Given the description of an element on the screen output the (x, y) to click on. 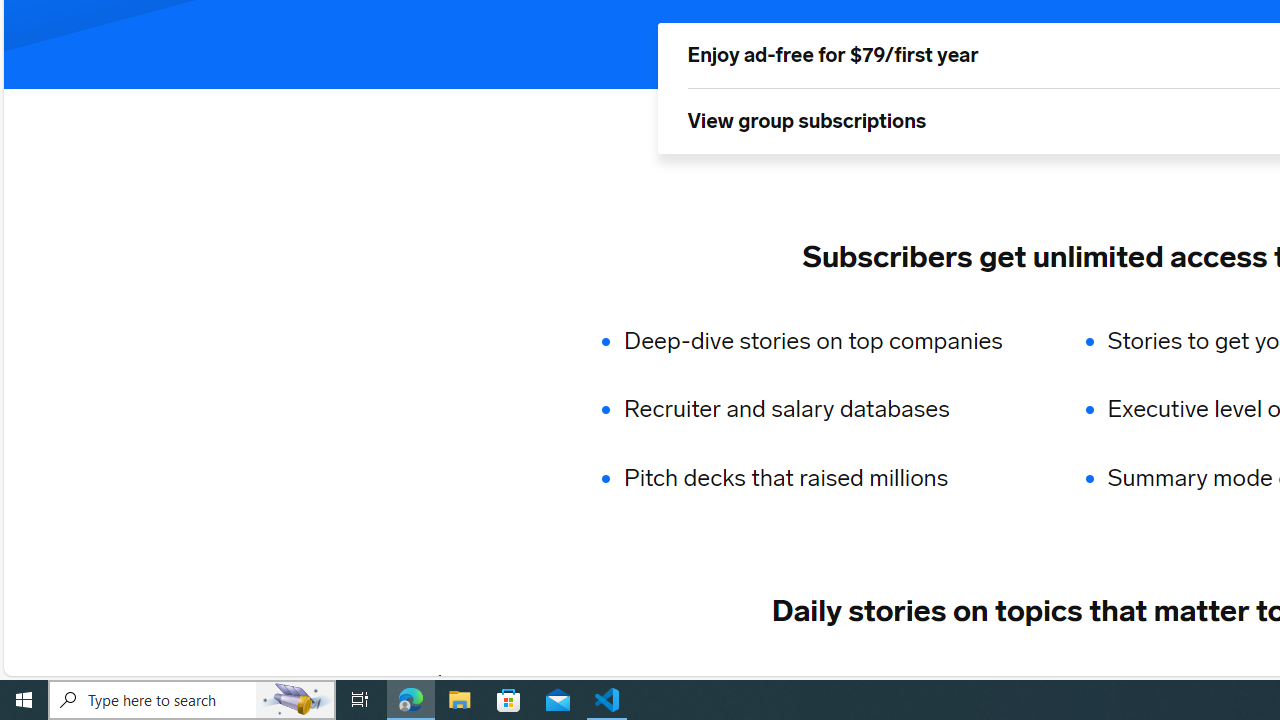
HEALTHCARE (1195, 681)
Pitch decks that raised millions (825, 478)
TECH (492, 681)
ADVERTISING (615, 681)
Deep-dive stories on top companies (825, 340)
Recruiter and salary databases (825, 409)
FINANCE (853, 681)
PERSONAL FINANCE (1016, 681)
RETAIL (744, 681)
